Given the description of an element on the screen output the (x, y) to click on. 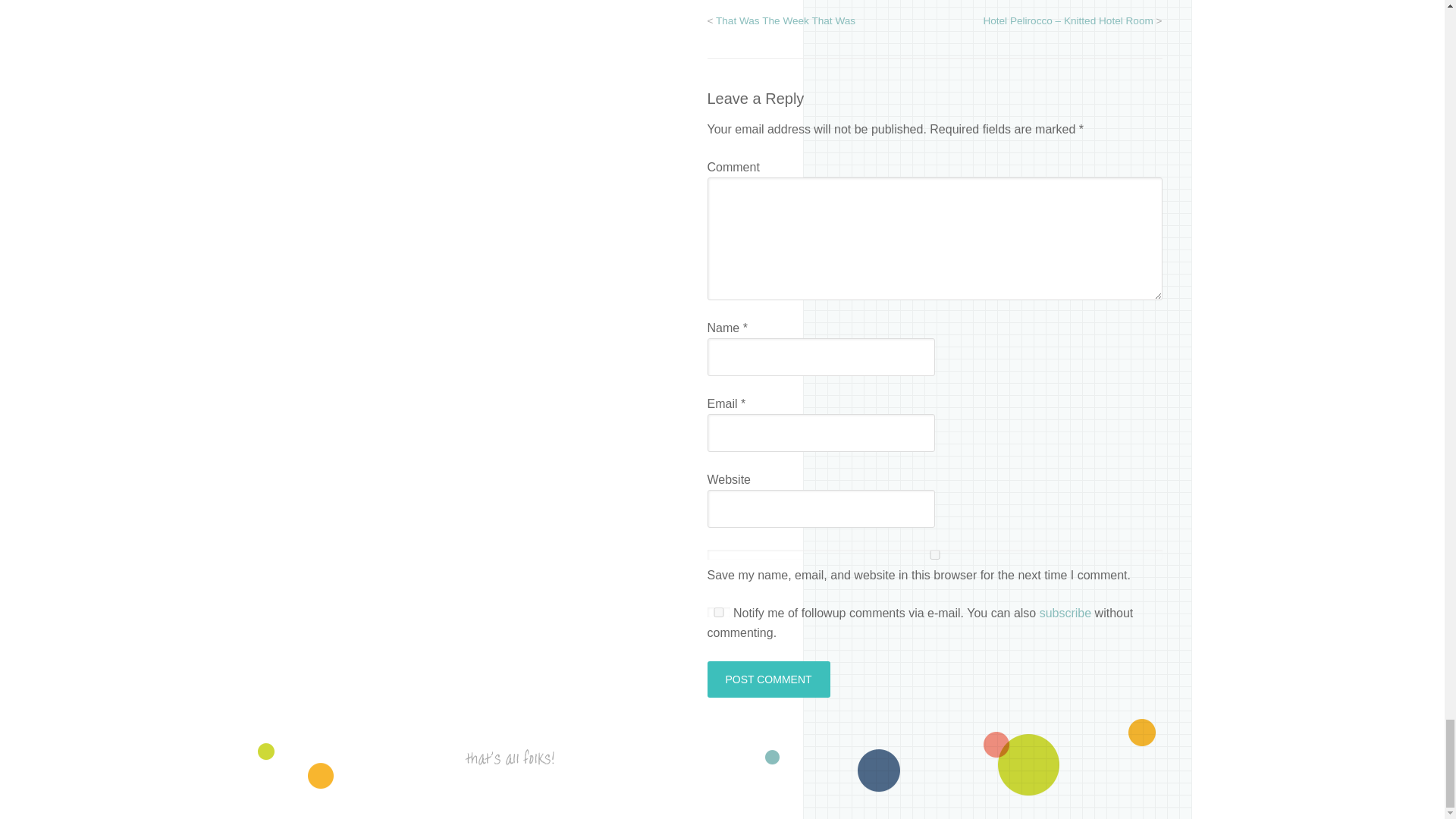
subscribe (1064, 612)
That Was The Week That Was (786, 20)
yes (933, 554)
Post Comment (767, 678)
Post Comment (767, 678)
yes (717, 612)
